Given the description of an element on the screen output the (x, y) to click on. 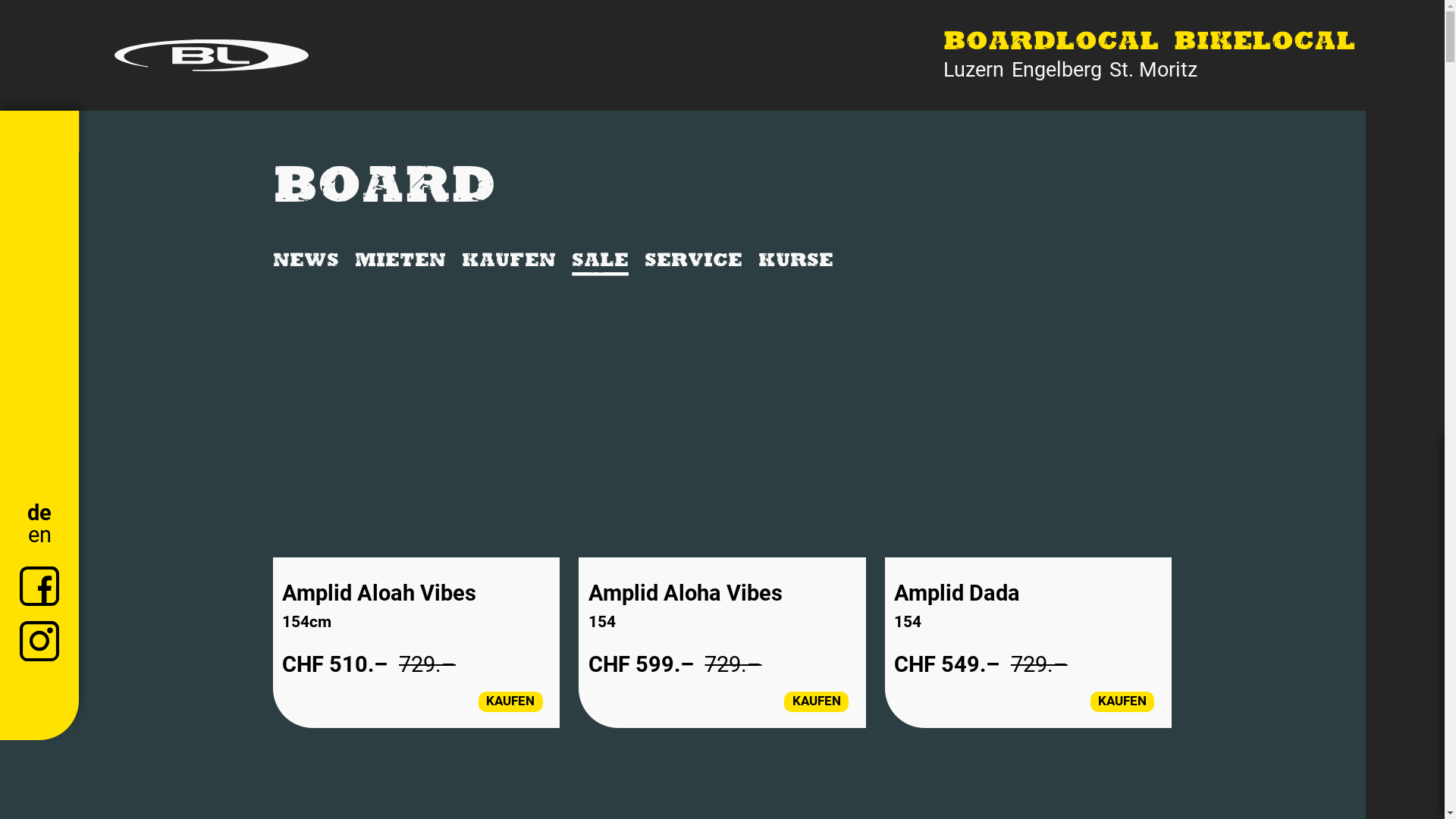
Service Element type: text (693, 261)
en Element type: text (39, 535)
Kurse Element type: text (795, 261)
Mieten Element type: text (399, 261)
BOARDLOCAL BIKELOCAL Element type: text (1149, 43)
de Element type: text (39, 513)
Sale Element type: text (599, 261)
Kaufen Element type: text (508, 261)
News Element type: text (305, 261)
